Given the description of an element on the screen output the (x, y) to click on. 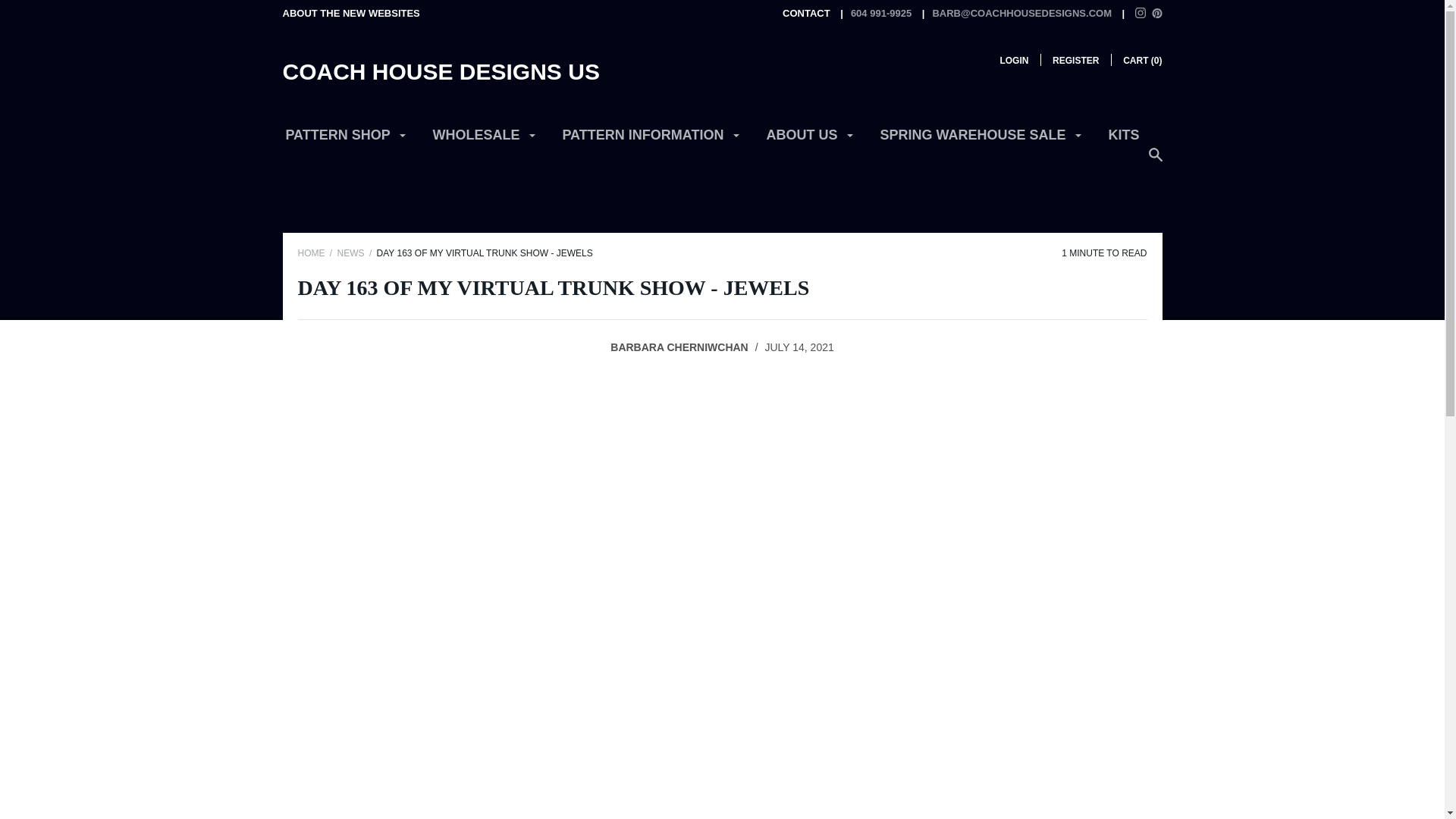
PATTERN SHOP (345, 140)
Pinterest (1156, 14)
LOGIN (1012, 60)
Instagram (1140, 14)
ABOUT THE NEW WEBSITES (350, 12)
Pinterest (1156, 12)
Instagram (1140, 12)
REGISTER (1075, 60)
COACH HOUSE DESIGNS US (440, 71)
